Given the description of an element on the screen output the (x, y) to click on. 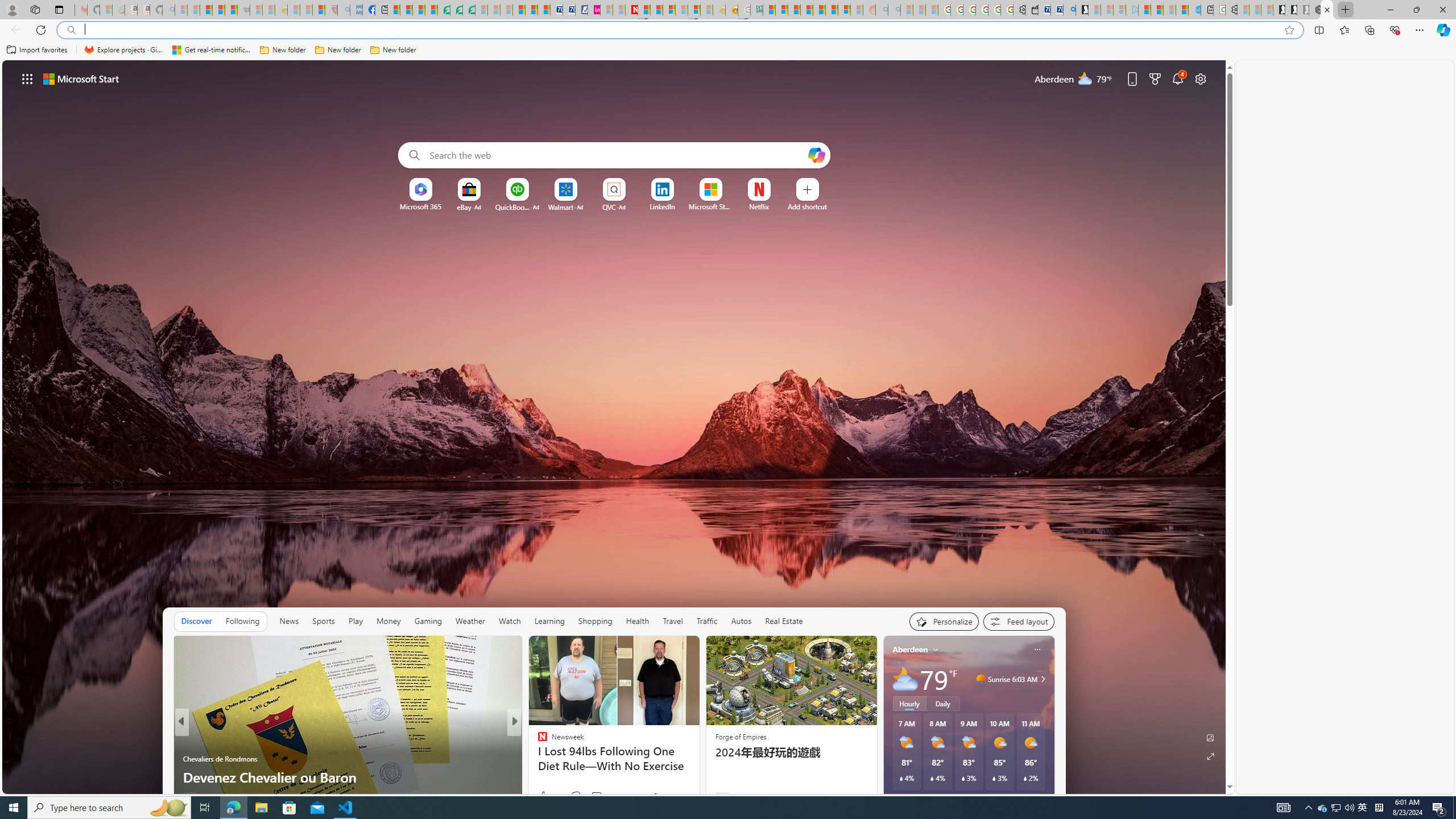
My location (936, 649)
Expand background (1210, 756)
24/7 Wall St. (537, 740)
App bar (728, 29)
Aberdeen (910, 649)
15 Foods That Lower the Risk Of Dementia (697, 777)
View comments 3 Comment (592, 796)
78 Like (543, 796)
Hourly (909, 703)
Traffic (706, 621)
